Given the description of an element on the screen output the (x, y) to click on. 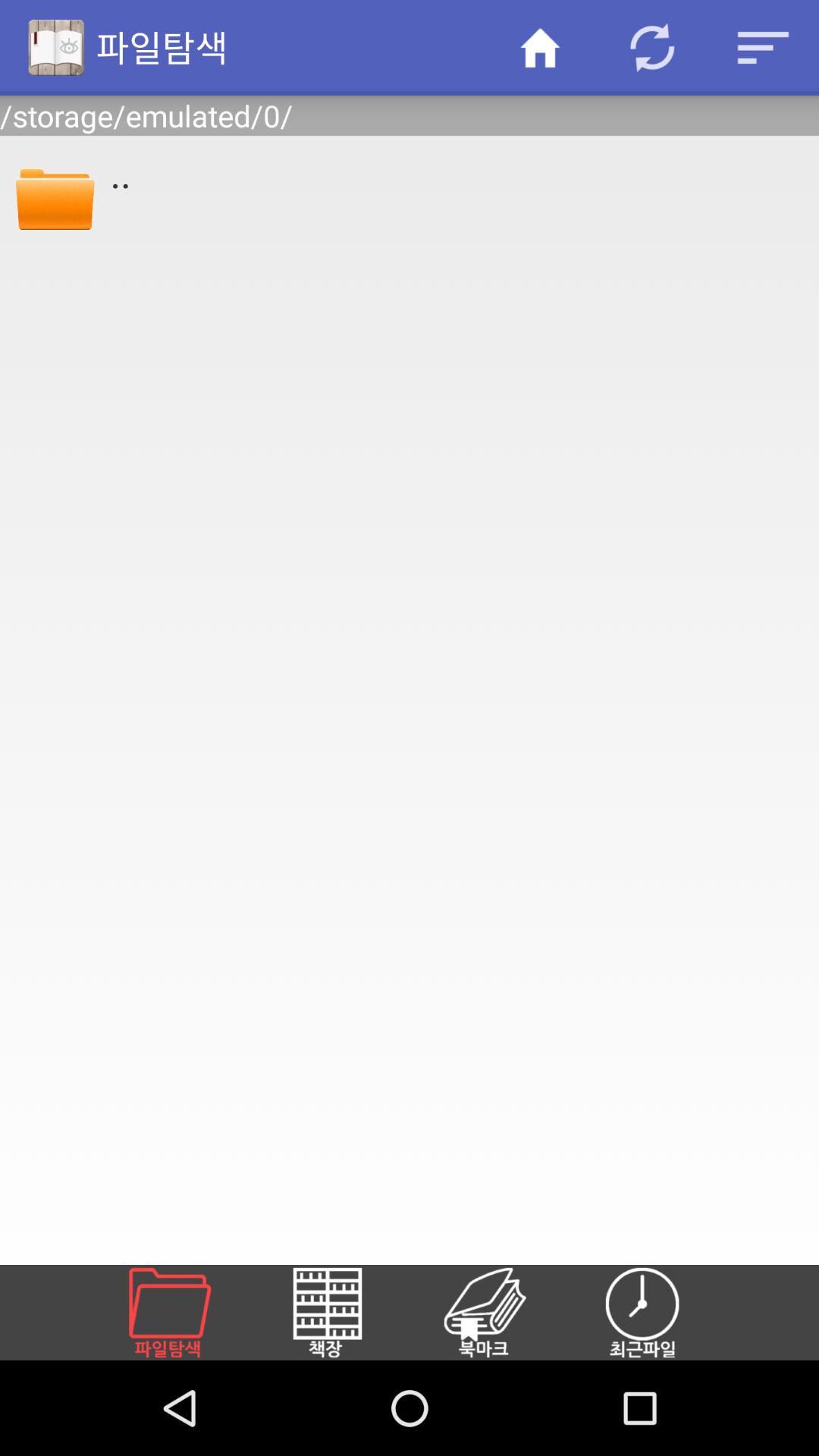
view history (660, 1312)
